Given the description of an element on the screen output the (x, y) to click on. 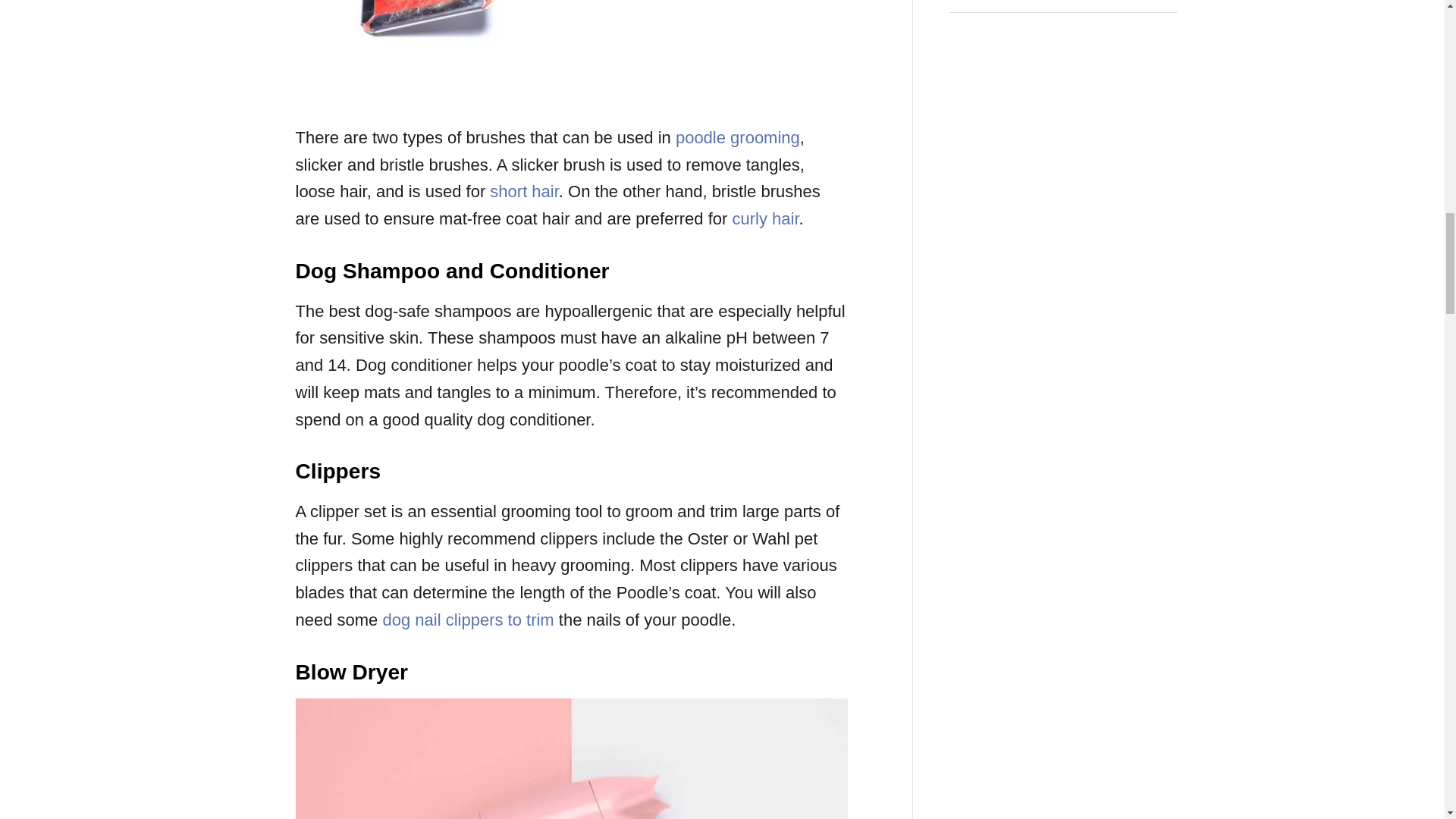
poodle grooming (737, 137)
dog nail clippers to trim (467, 619)
curly hair (764, 218)
short hair (524, 190)
